Given the description of an element on the screen output the (x, y) to click on. 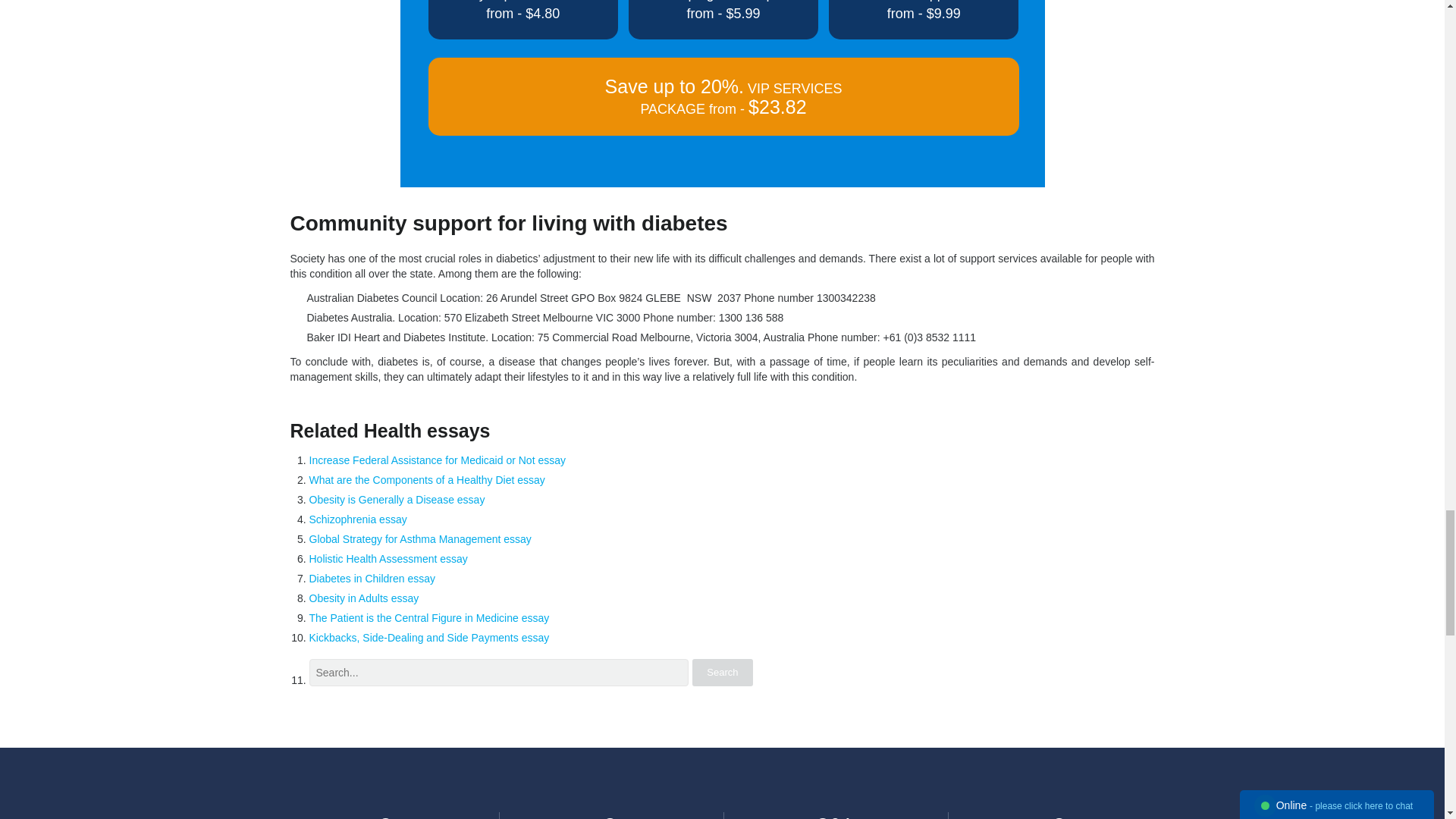
Search (722, 672)
Increase Federal Assistance for Medicaid or Not essay (437, 460)
